Given the description of an element on the screen output the (x, y) to click on. 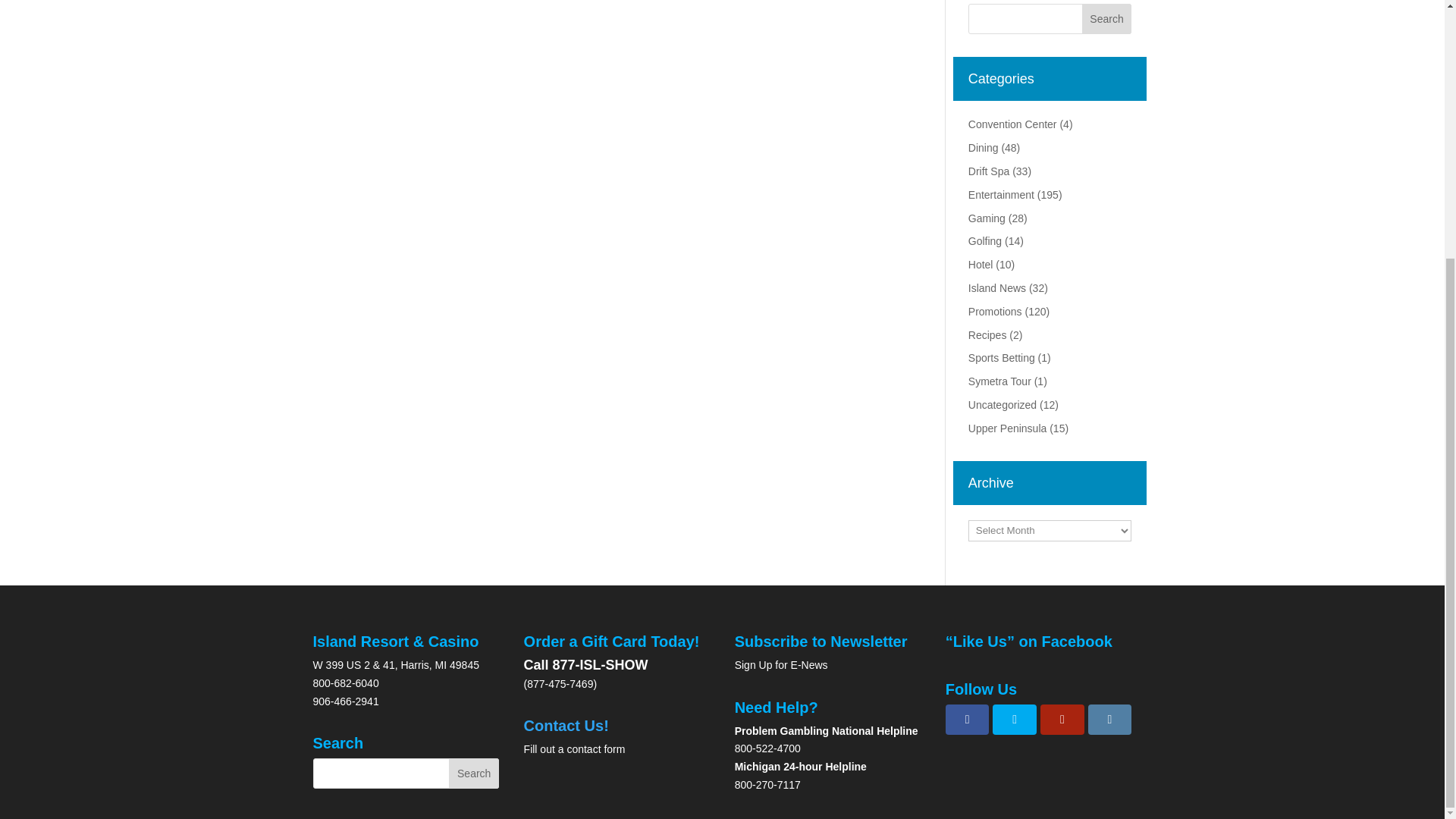
Search (473, 773)
Search (1106, 19)
